Given the description of an element on the screen output the (x, y) to click on. 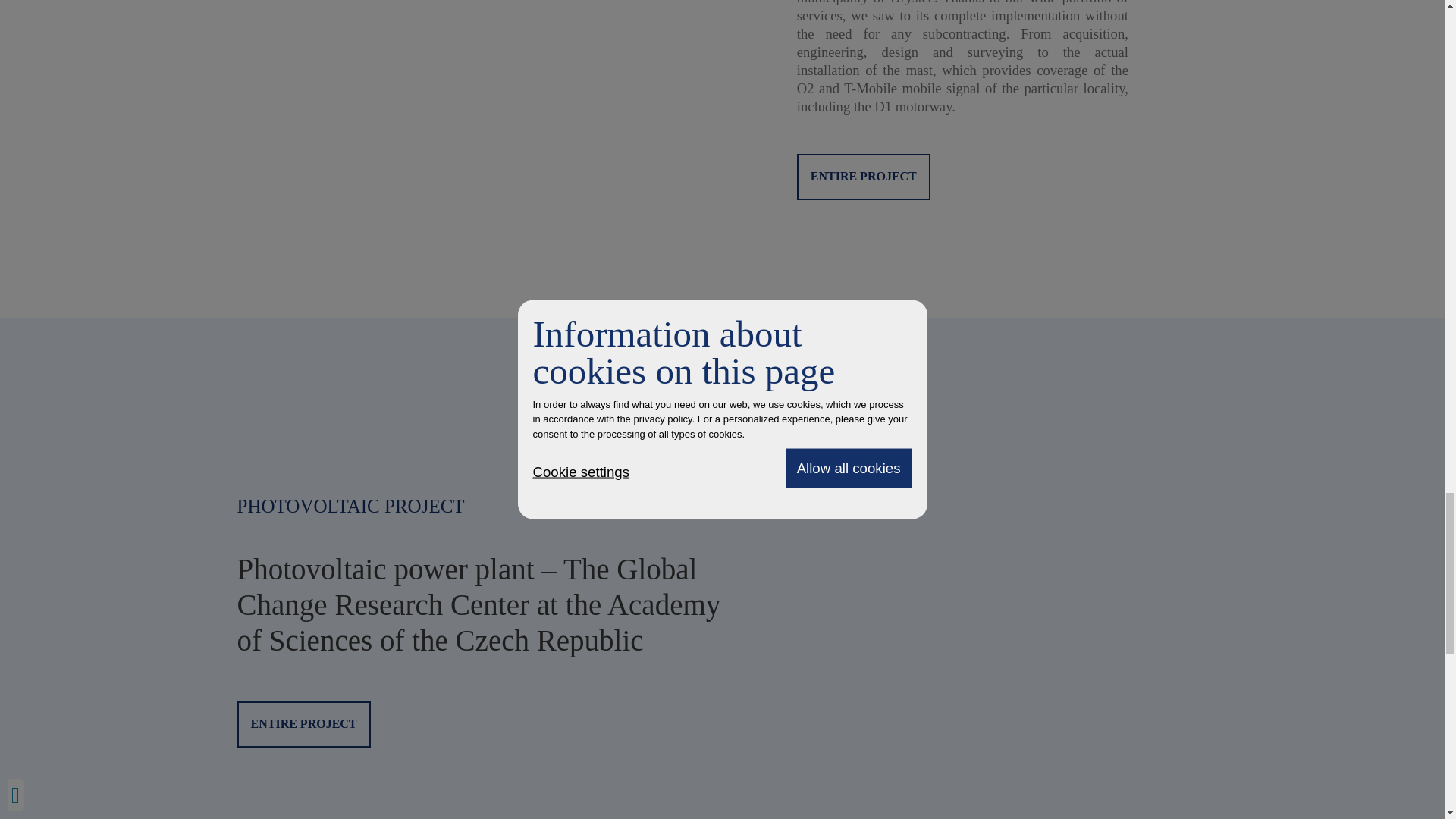
ENTIRE PROJECT (863, 176)
ENTIRE PROJECT (302, 724)
